Given the description of an element on the screen output the (x, y) to click on. 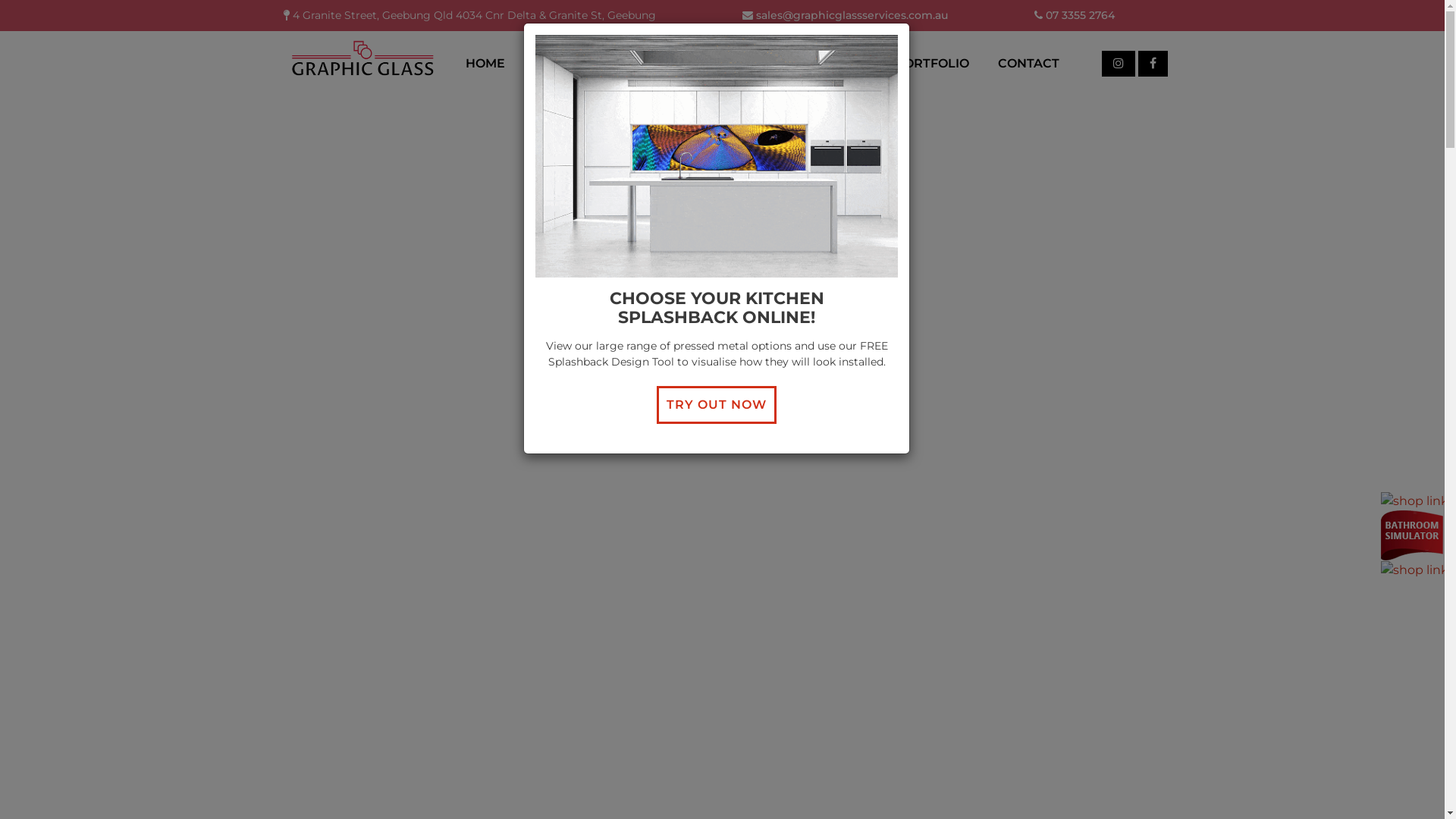
07 3355 2764 Element type: text (1074, 14)
sales@graphicglassservices.com.au Element type: text (844, 14)
ABOUT Element type: text (556, 63)
PRODUCTS Element type: text (644, 63)
HOME Element type: text (485, 63)
QUOTE Element type: text (843, 63)
SIMULATORS Element type: text (749, 63)
CONTACT Element type: text (1028, 63)
PORTFOLIO Element type: text (931, 63)
TRY OUT NOW Element type: text (716, 404)
